Given the description of an element on the screen output the (x, y) to click on. 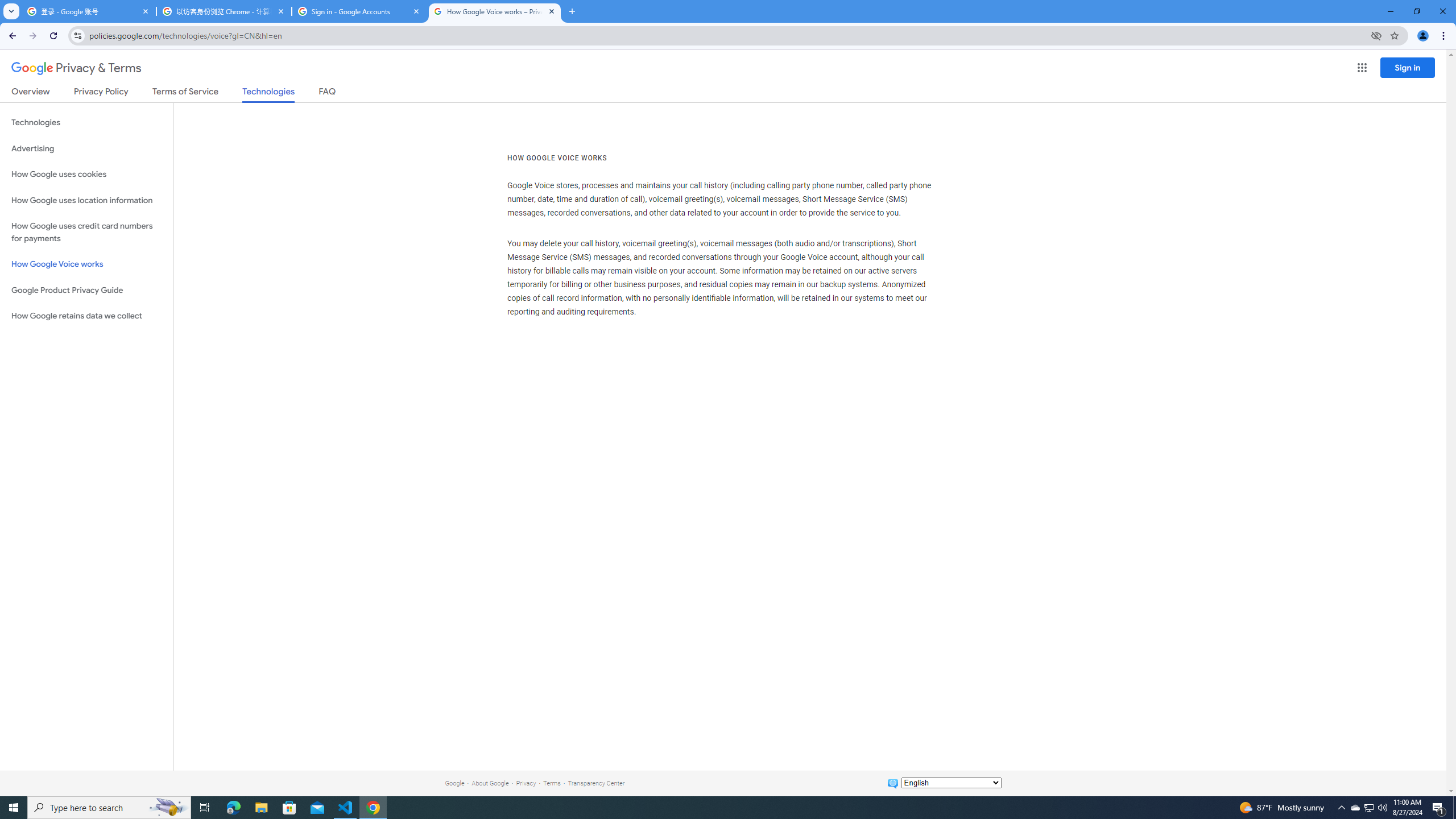
How Google uses cookies (86, 174)
How Google uses credit card numbers for payments (86, 232)
How Google retains data we collect (86, 316)
Sign in - Google Accounts (359, 11)
How Google uses location information (86, 199)
